Given the description of an element on the screen output the (x, y) to click on. 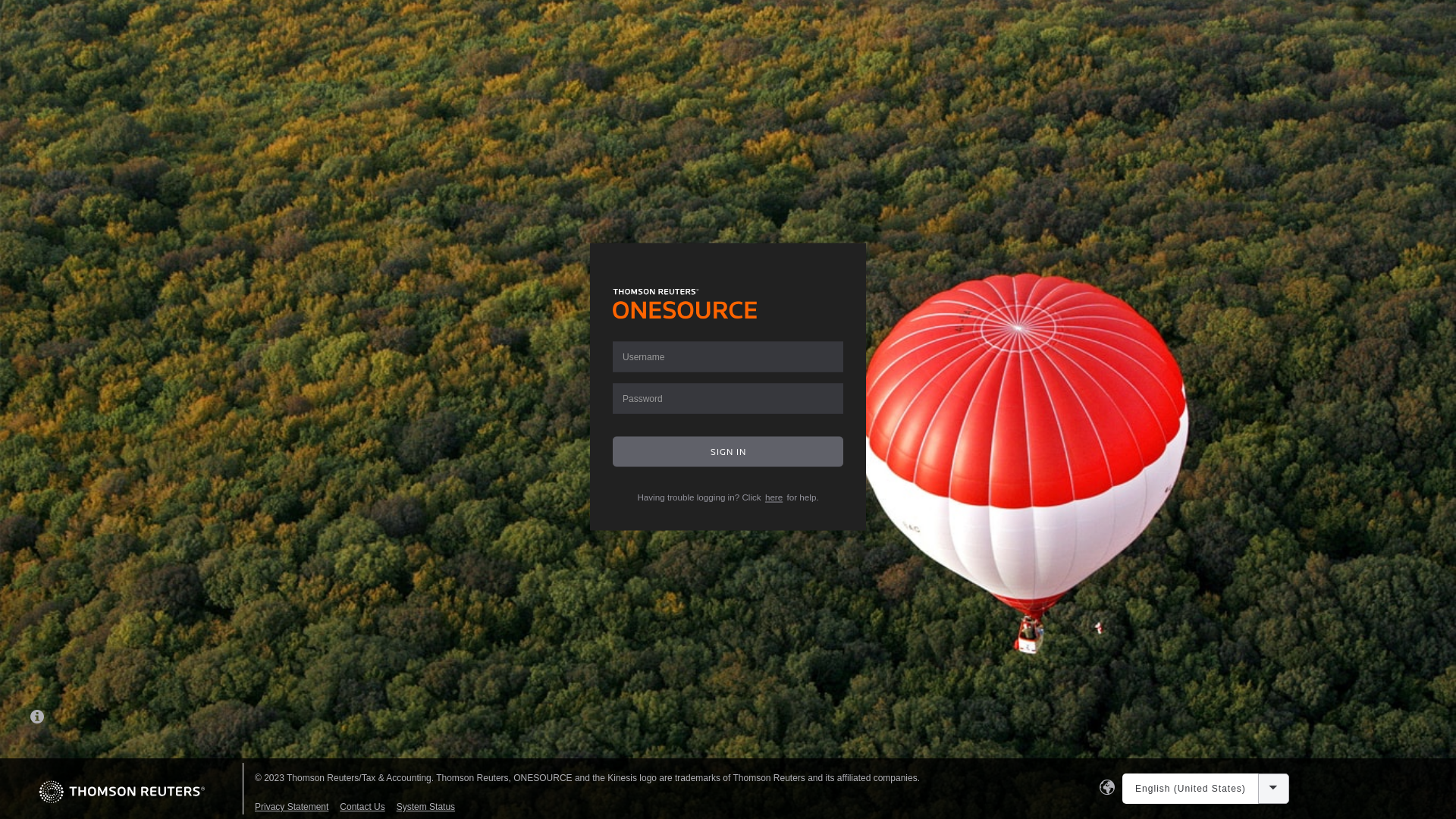
System Status Element type: text (425, 806)
Contact Us Element type: text (361, 806)
English (United States) Element type: text (1190, 788)
Privacy Statement Element type: text (291, 806)
here Element type: text (773, 497)
SIGN IN Element type: text (727, 451)
